Given the description of an element on the screen output the (x, y) to click on. 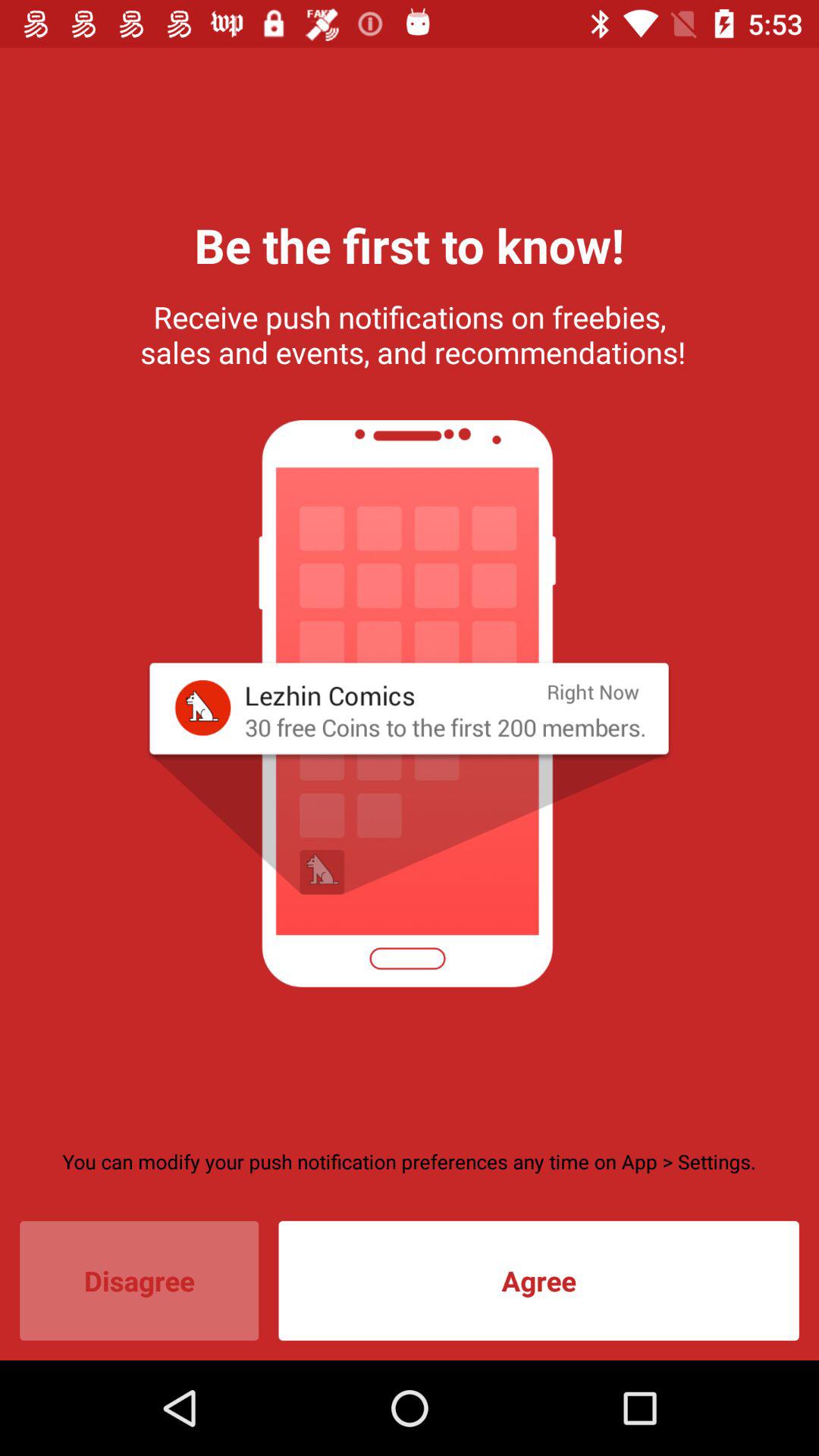
press icon at the bottom left corner (138, 1280)
